Given the description of an element on the screen output the (x, y) to click on. 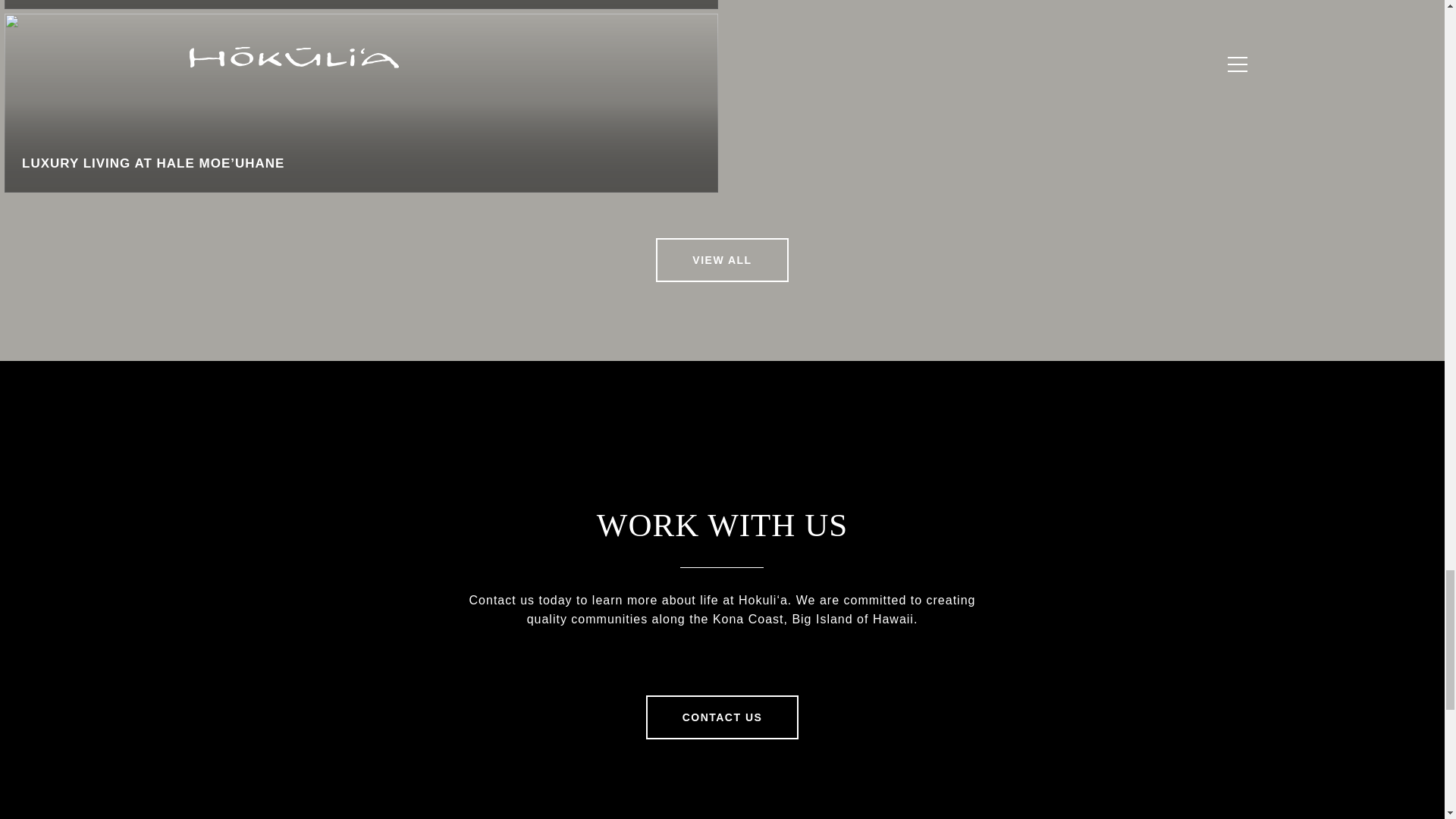
VIEW ALL (721, 259)
CONTACT US (722, 717)
